Given the description of an element on the screen output the (x, y) to click on. 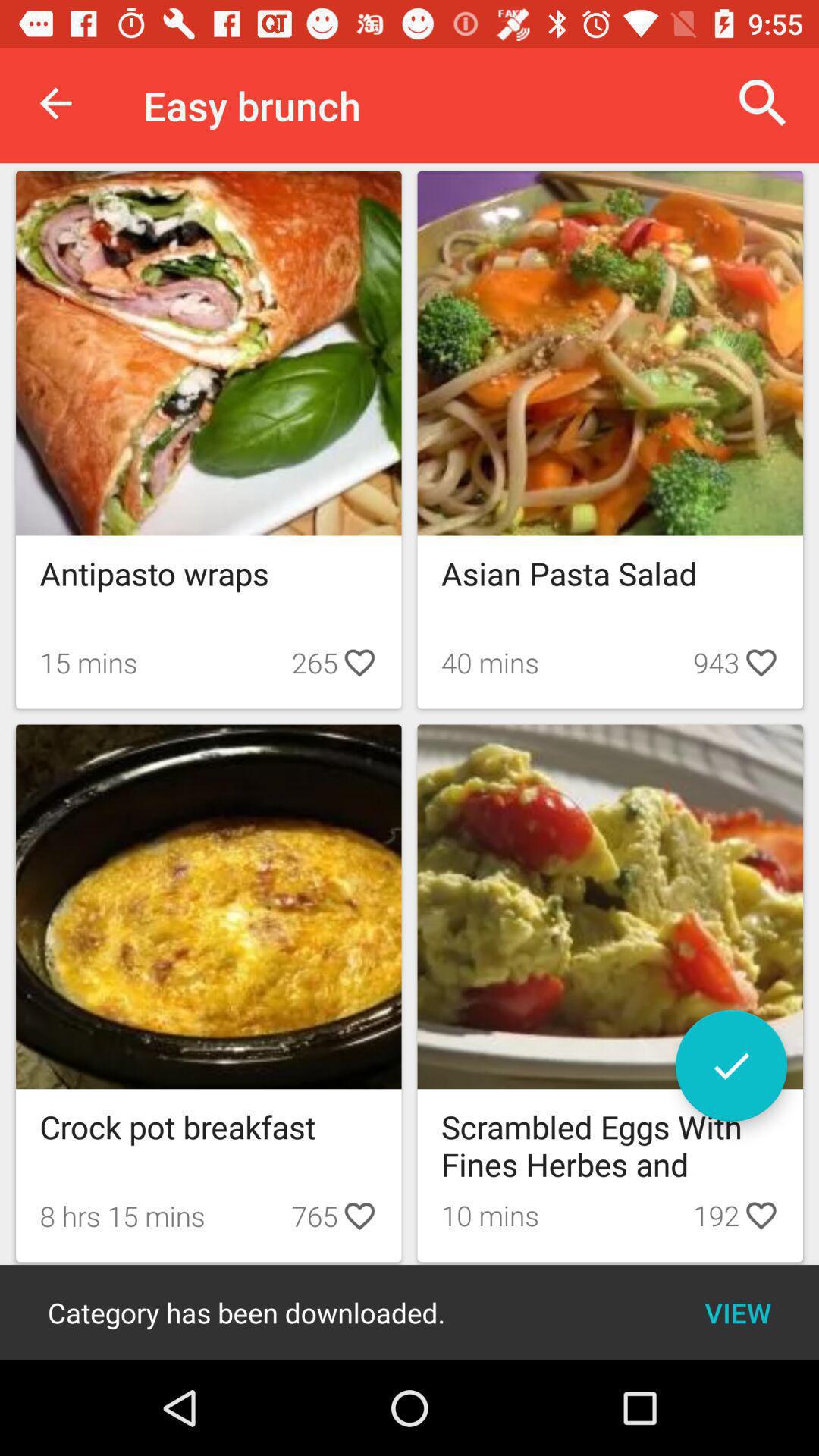
click the item to the left of easy brunch icon (55, 103)
